Given the description of an element on the screen output the (x, y) to click on. 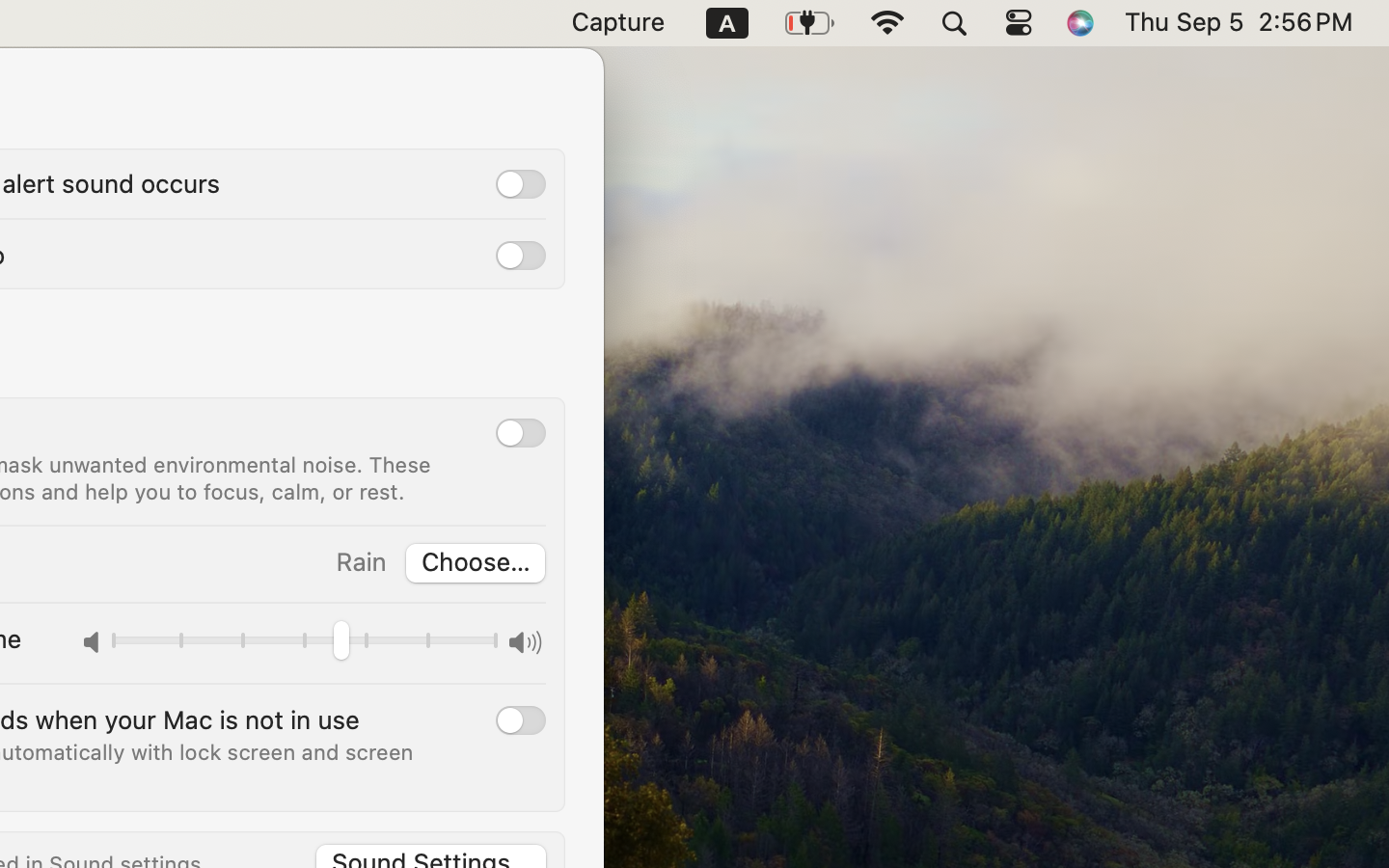
0.6000000238418579 Element type: AXSlider (304, 644)
Rain Element type: AXStaticText (360, 560)
